Given the description of an element on the screen output the (x, y) to click on. 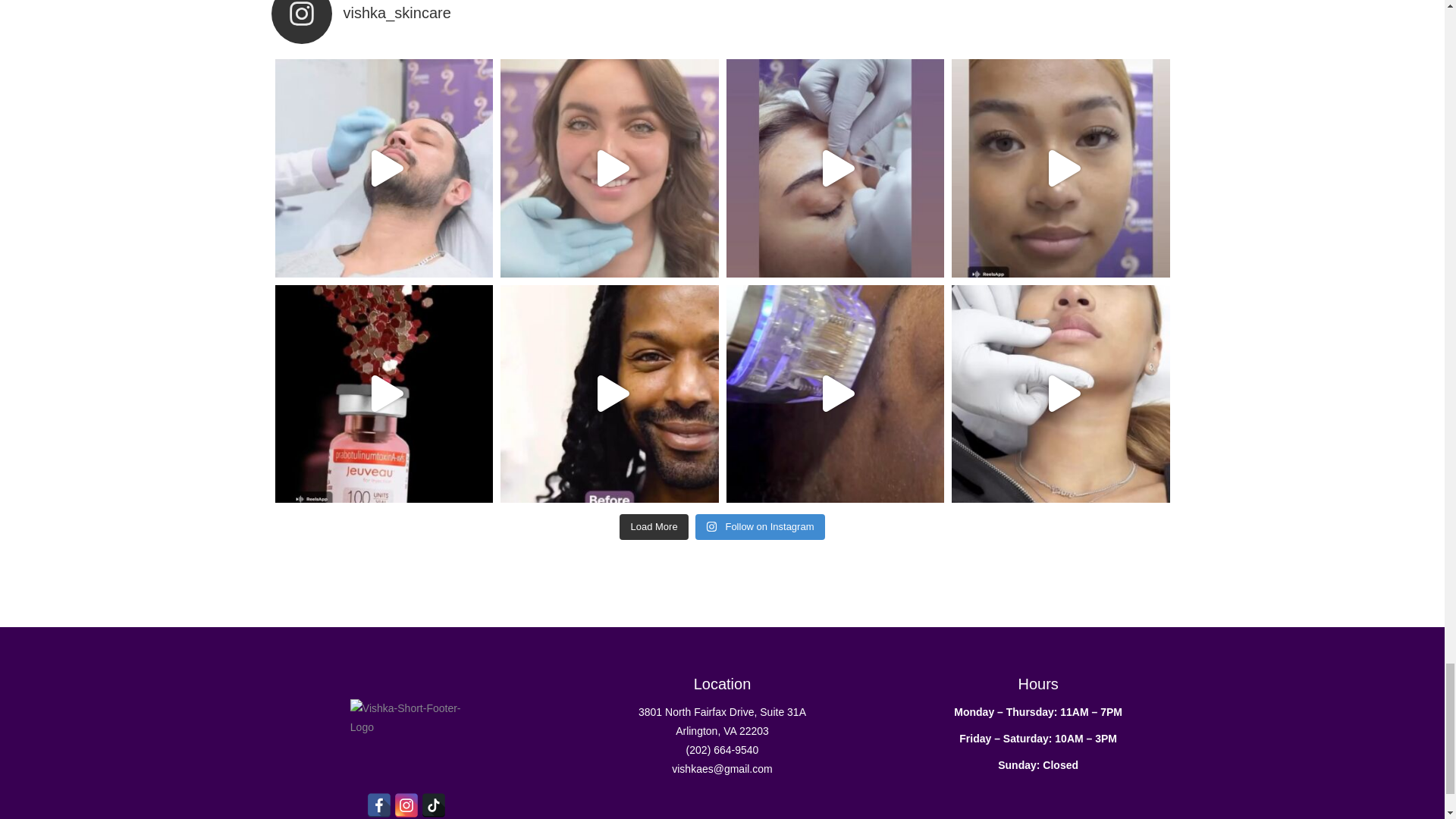
Facebook (378, 805)
